Given the description of an element on the screen output the (x, y) to click on. 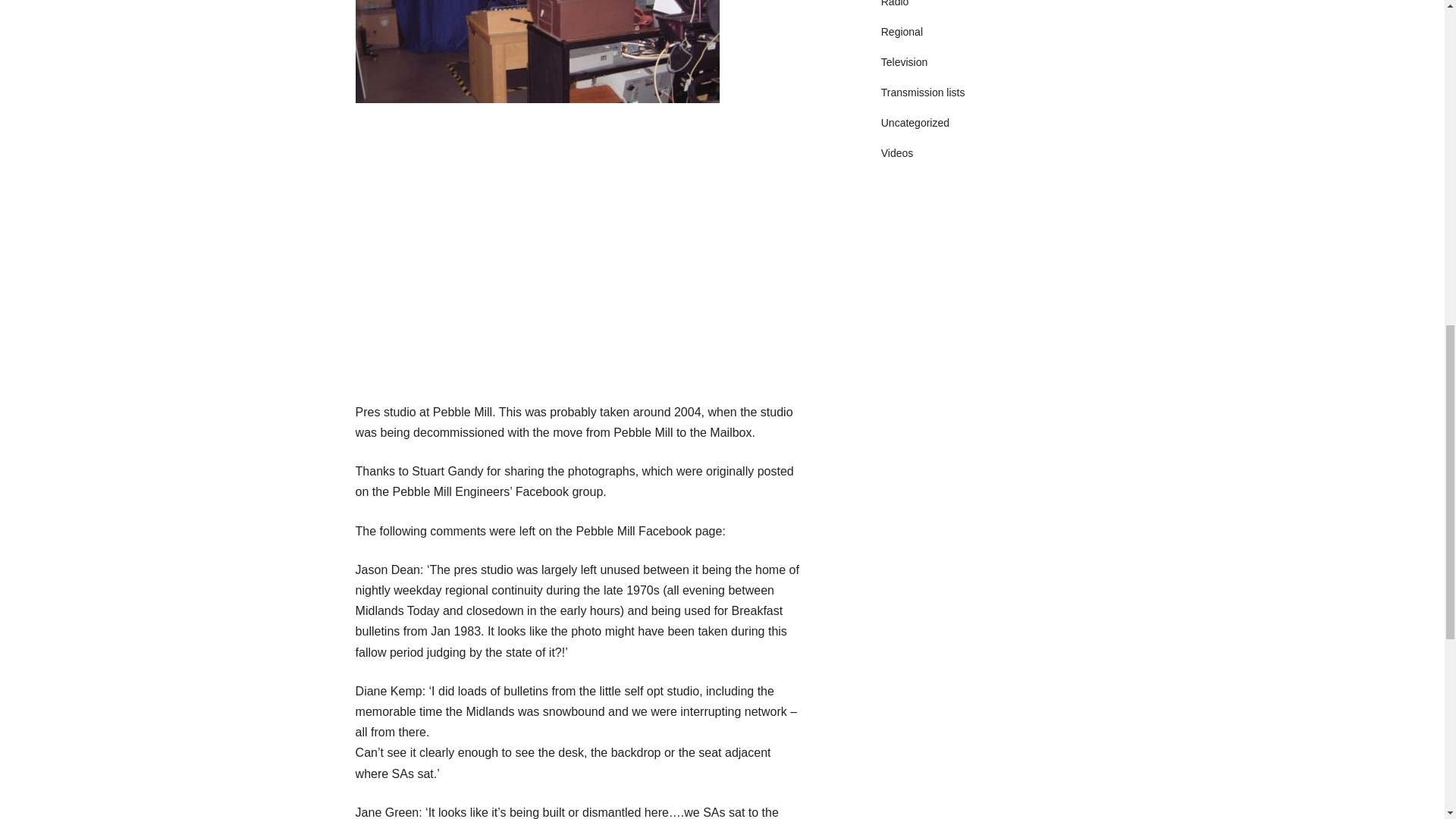
Transmission lists (922, 92)
Radio (894, 3)
Regional (901, 31)
Videos (897, 152)
Uncategorized (914, 122)
Television (903, 61)
